Given the description of an element on the screen output the (x, y) to click on. 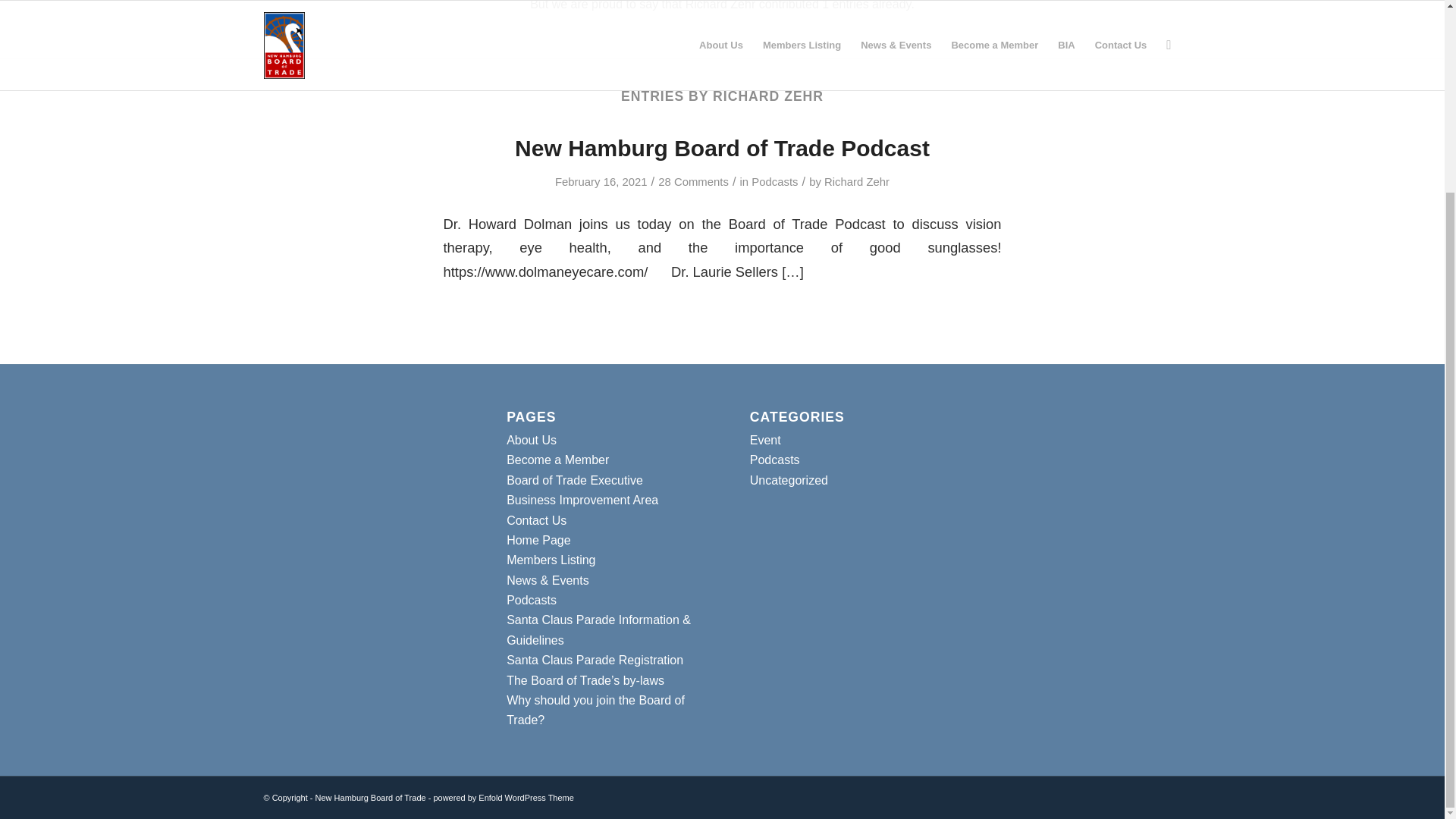
Become a Member (557, 459)
Richard Zehr (856, 182)
Permanent Link: New Hamburg Board of Trade Podcast (722, 147)
Santa Claus Parade Registration (594, 659)
Board of Trade Executive (574, 480)
Home Page (538, 540)
Contact Us (536, 520)
Podcasts (774, 459)
Posts by Richard Zehr (856, 182)
Event (764, 440)
Members Listing (550, 559)
Uncategorized (788, 480)
About Us (531, 440)
powered by Enfold WordPress Theme (502, 797)
28 Comments (693, 182)
